Given the description of an element on the screen output the (x, y) to click on. 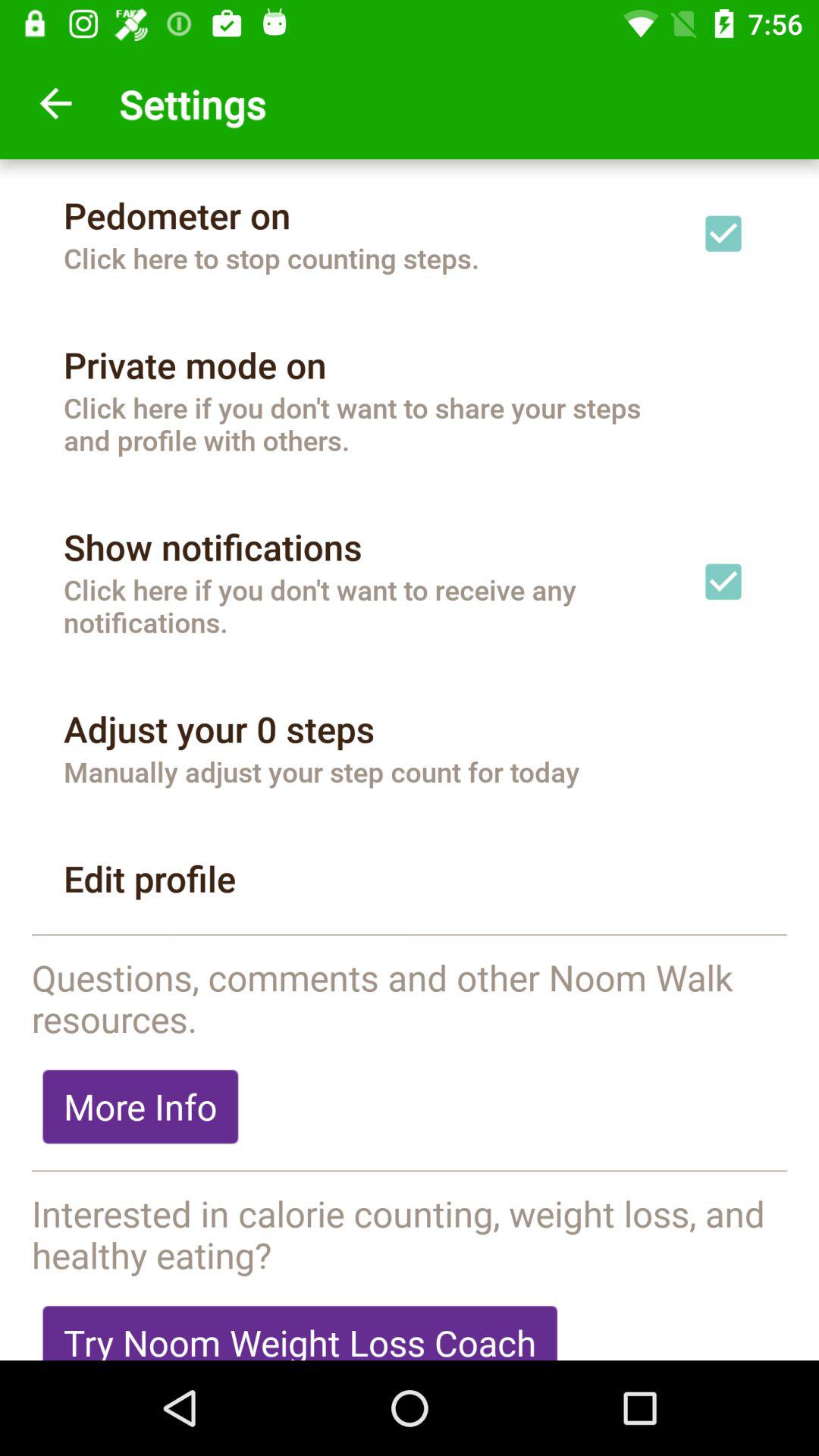
launch the icon above the try noom weight item (409, 1234)
